Given the description of an element on the screen output the (x, y) to click on. 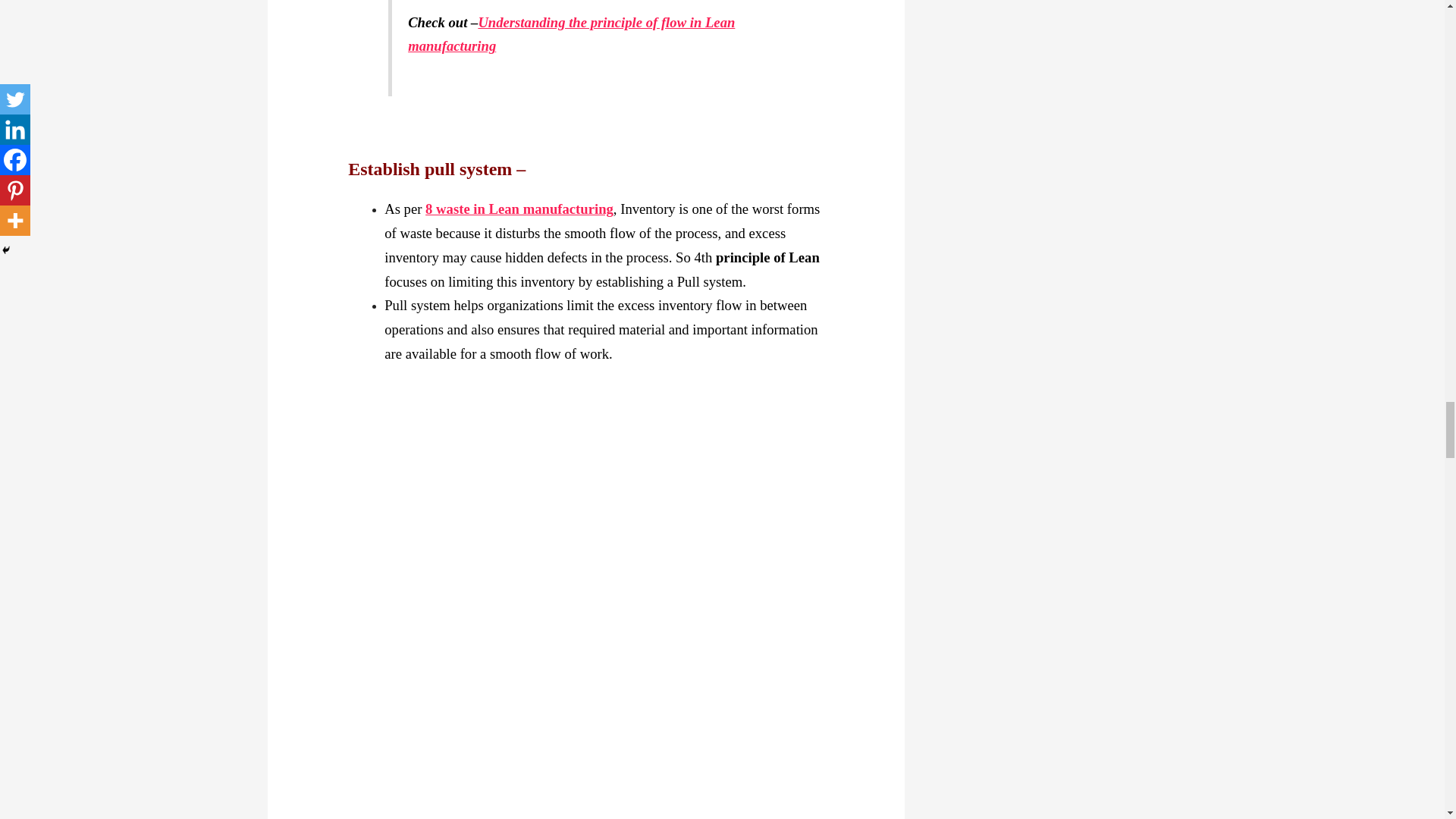
8 waste in Lean manufacturing (518, 208)
Understanding the principle of flow in Lean manufacturing (571, 34)
